Given the description of an element on the screen output the (x, y) to click on. 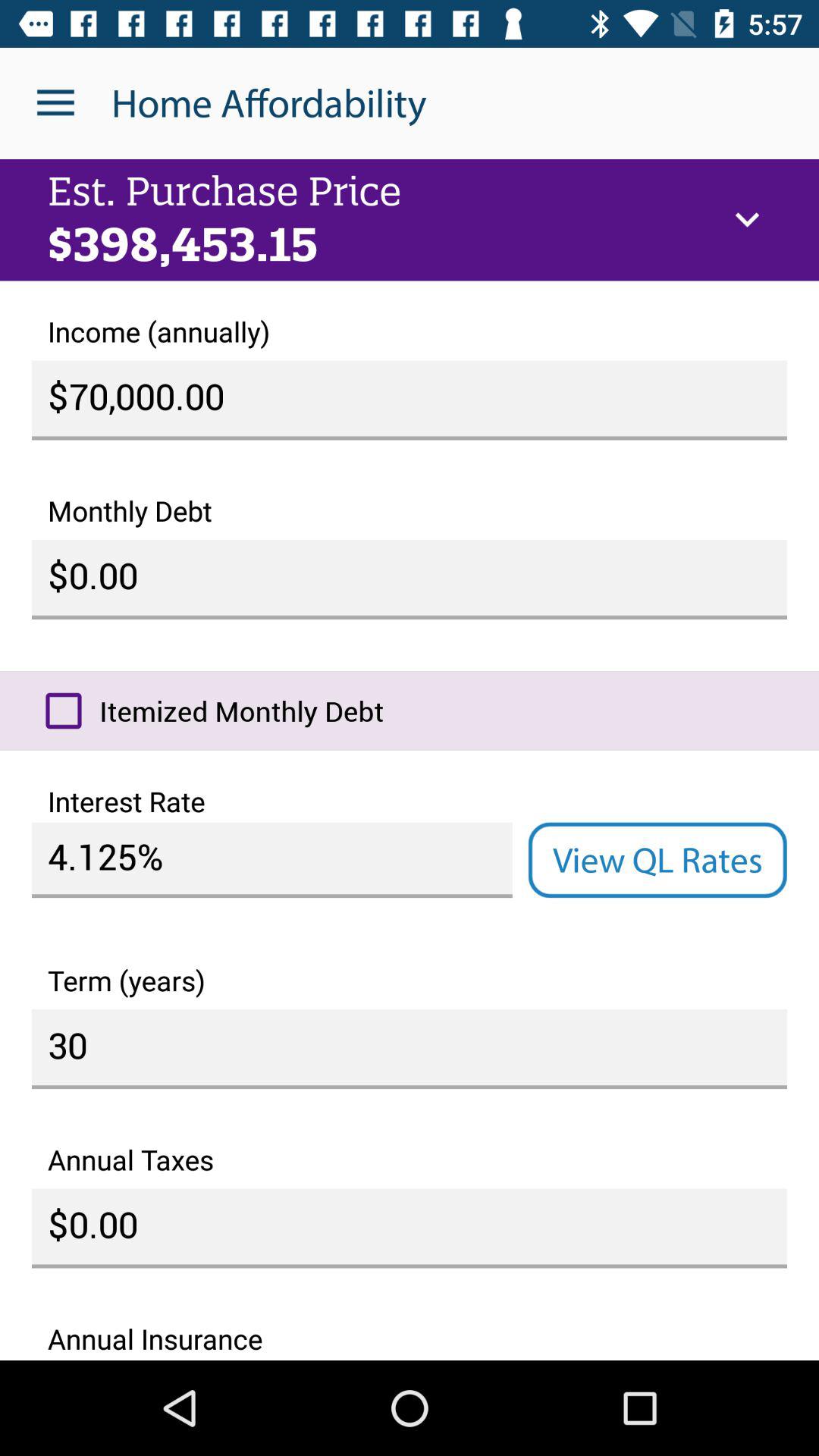
press the icon to the left of the home affordability (55, 103)
